Given the description of an element on the screen output the (x, y) to click on. 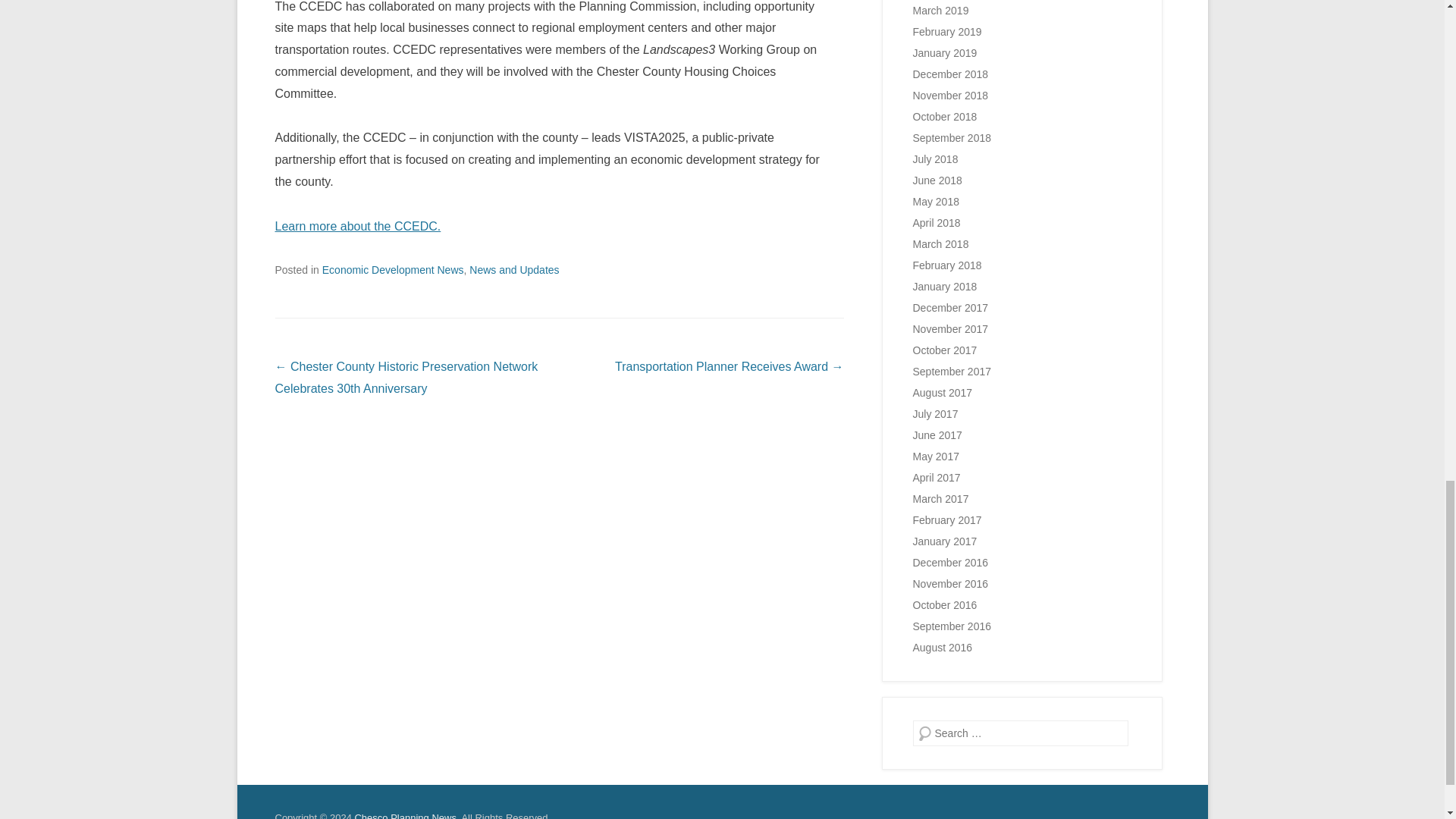
News and Updates (513, 269)
Economic Development News (392, 269)
Learn more about the CCEDC. (358, 226)
